Given the description of an element on the screen output the (x, y) to click on. 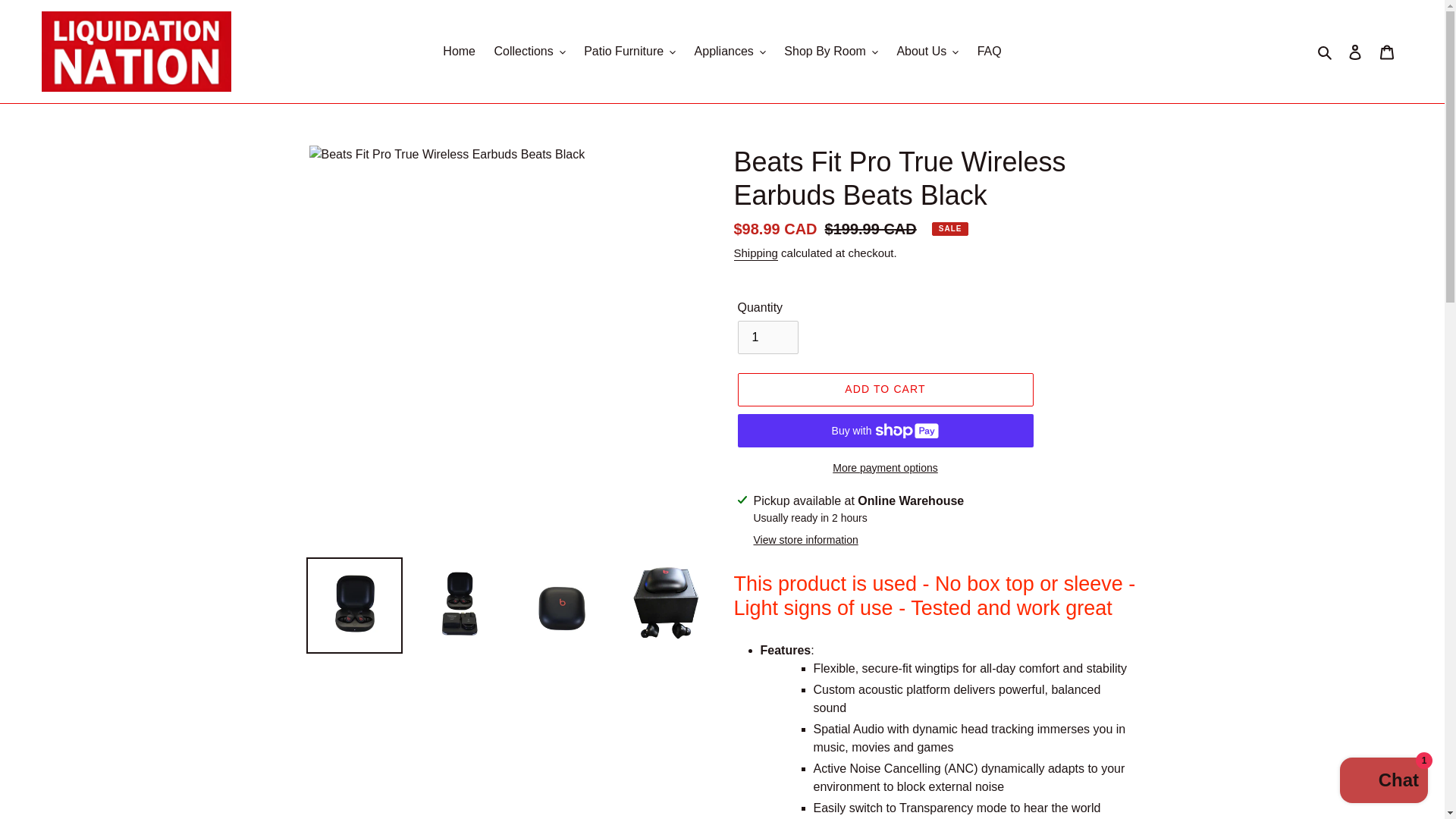
Shopify online store chat (1383, 781)
1 (766, 337)
Collections (529, 51)
Home (459, 51)
